Given the description of an element on the screen output the (x, y) to click on. 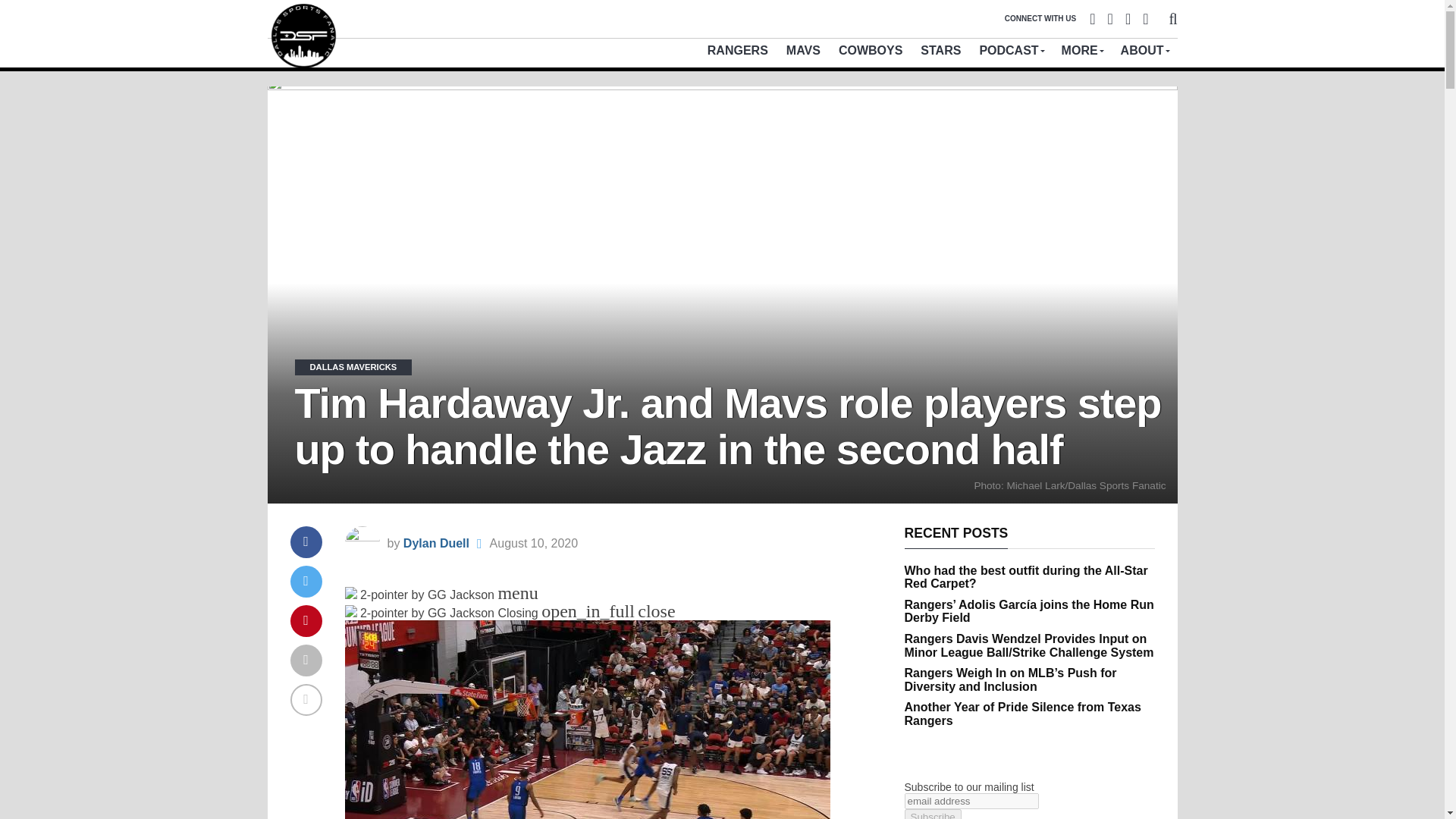
RANGERS (737, 50)
Posts by Dylan Duell (435, 543)
Subscribe (932, 814)
MAVS (803, 50)
